Given the description of an element on the screen output the (x, y) to click on. 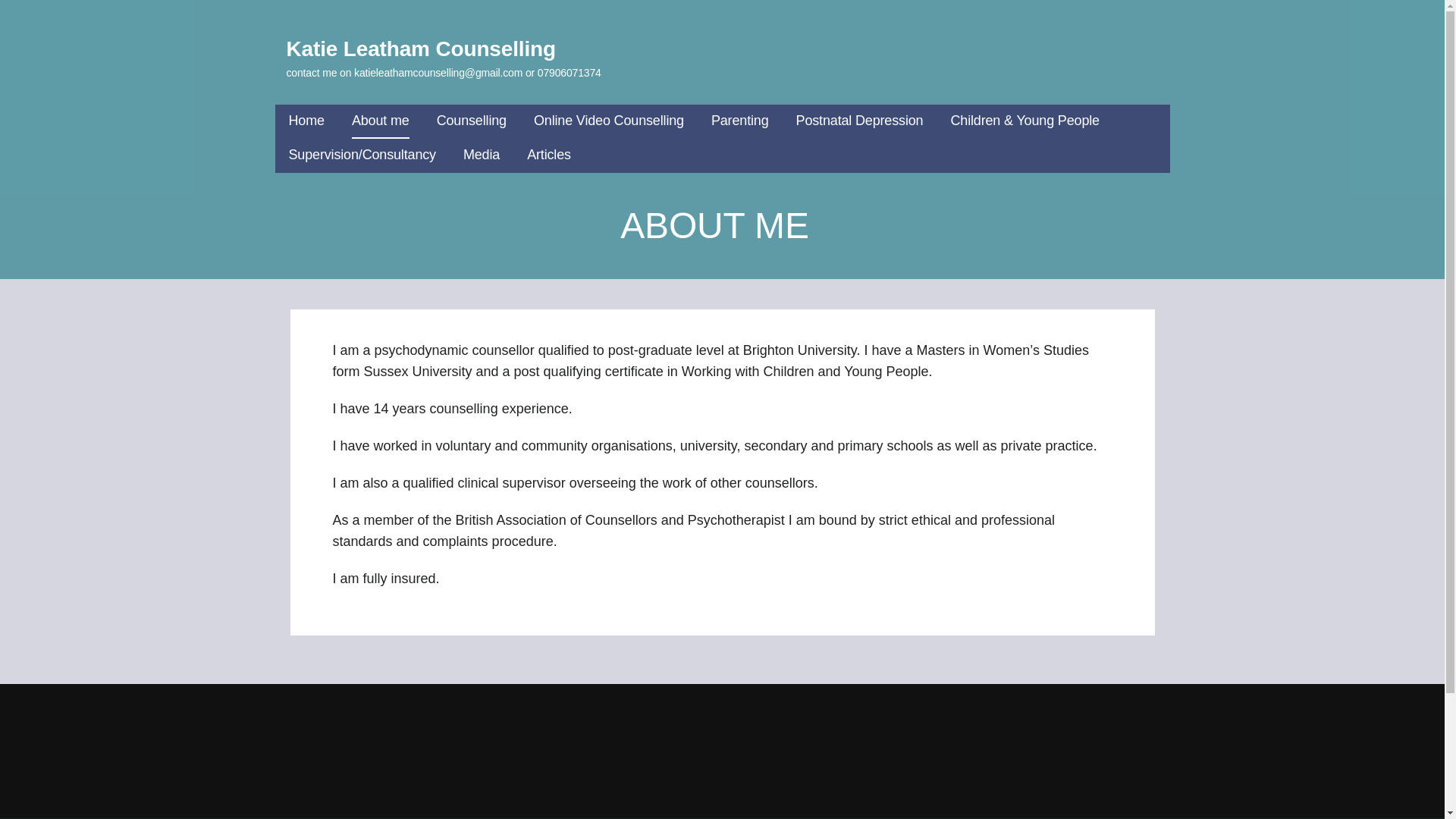
Postnatal Depression (859, 121)
Media (481, 155)
Online Video Counselling (609, 121)
About me (380, 121)
Katie Leatham Counselling (421, 48)
Counselling (471, 121)
Parenting (739, 121)
Home (305, 121)
Articles (548, 155)
